Given the description of an element on the screen output the (x, y) to click on. 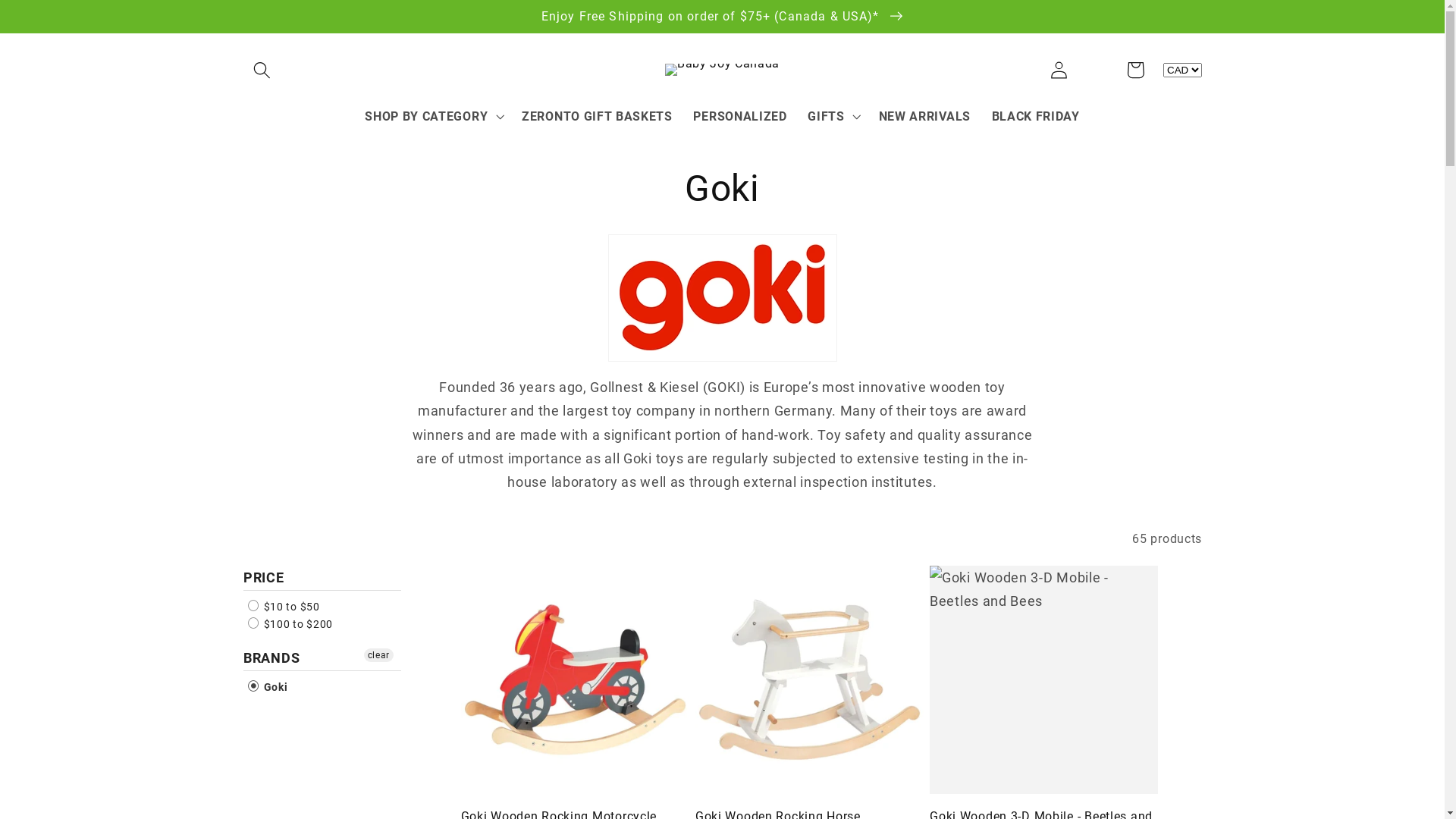
clear Element type: text (378, 655)
BLACK FRIDAY Element type: text (1035, 116)
NEW ARRIVALS Element type: text (924, 116)
$100 to $200 Element type: text (289, 623)
$10 to $50 Element type: text (283, 606)
PERSONALIZED Element type: text (740, 116)
Log in Element type: text (1058, 69)
Goki Element type: text (267, 686)
Enjoy Free Shipping on order of $75+ (Canada & USA)* Element type: text (722, 16)
Cart Element type: text (1135, 69)
ZERONTO GIFT BASKETS Element type: text (596, 116)
